Given the description of an element on the screen output the (x, y) to click on. 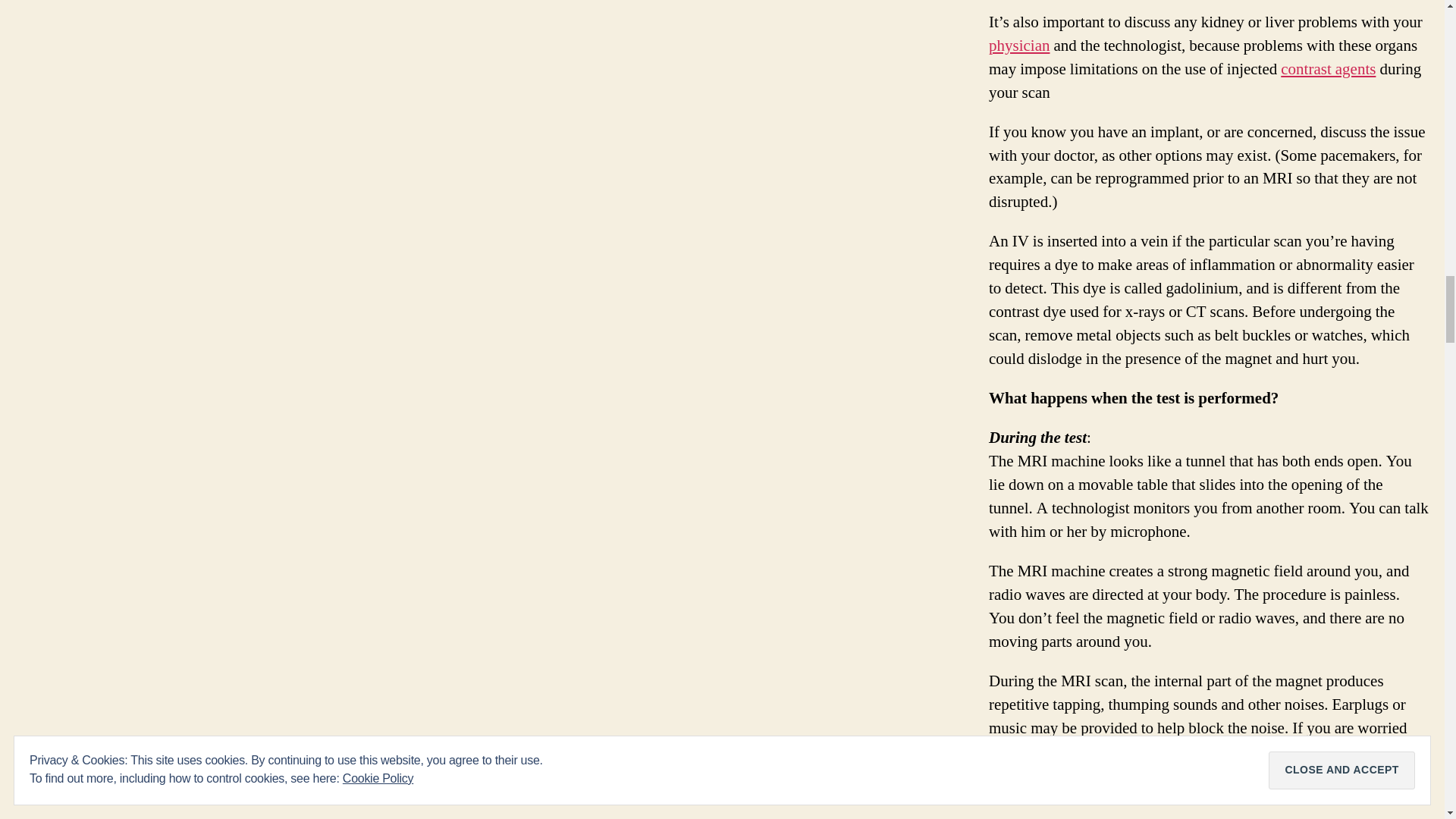
Radiocontrast (1328, 68)
physician (1018, 46)
contrast agents (1328, 68)
Physician (1018, 46)
